Given the description of an element on the screen output the (x, y) to click on. 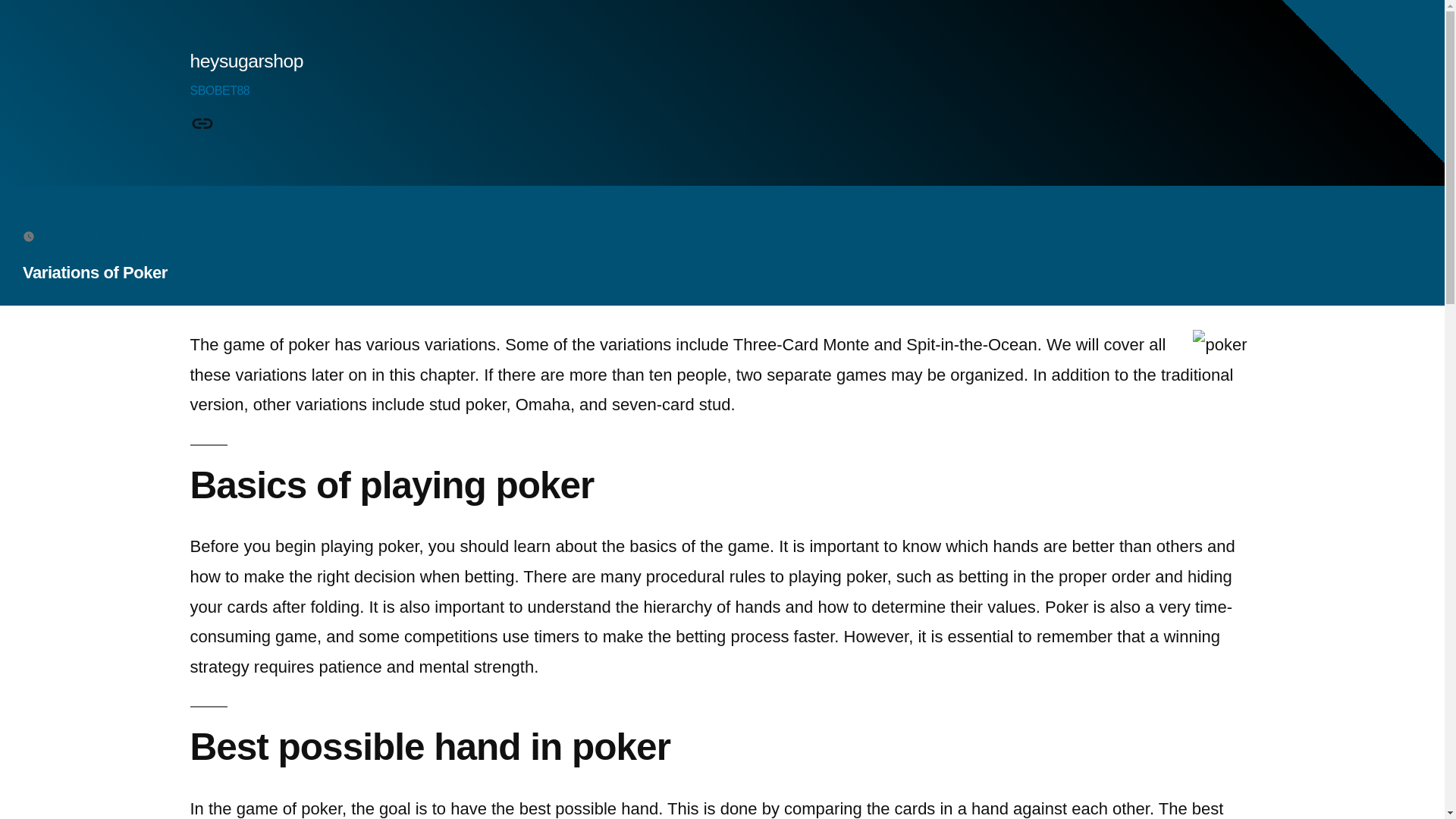
heysugarshop (245, 60)
SBOBET88 (201, 123)
November 7, 2022 (89, 235)
SBOBET88 (218, 90)
